Given the description of an element on the screen output the (x, y) to click on. 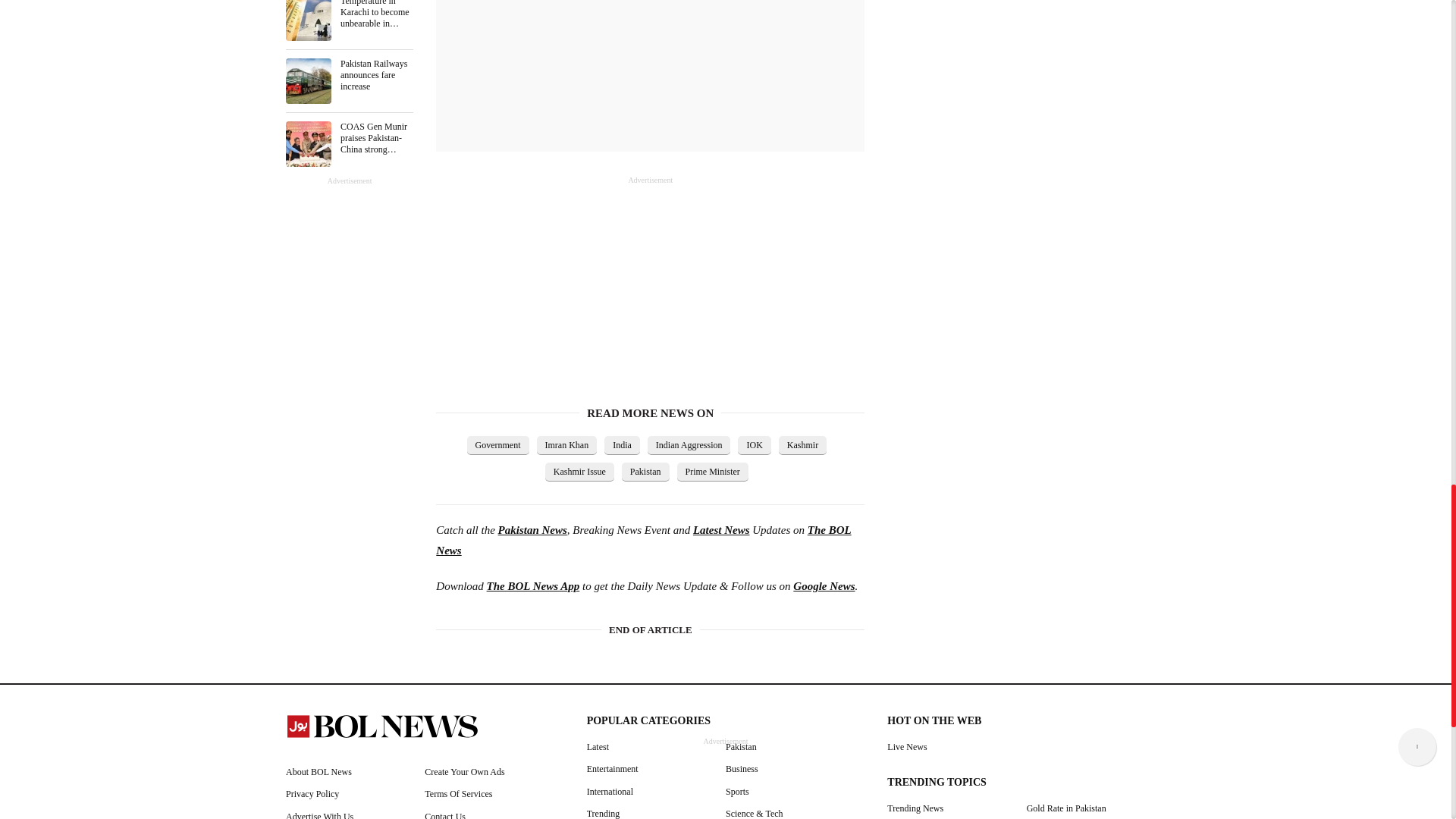
Advertisement (549, 280)
Advertisement (649, 68)
Advertisement (1000, 76)
